Given the description of an element on the screen output the (x, y) to click on. 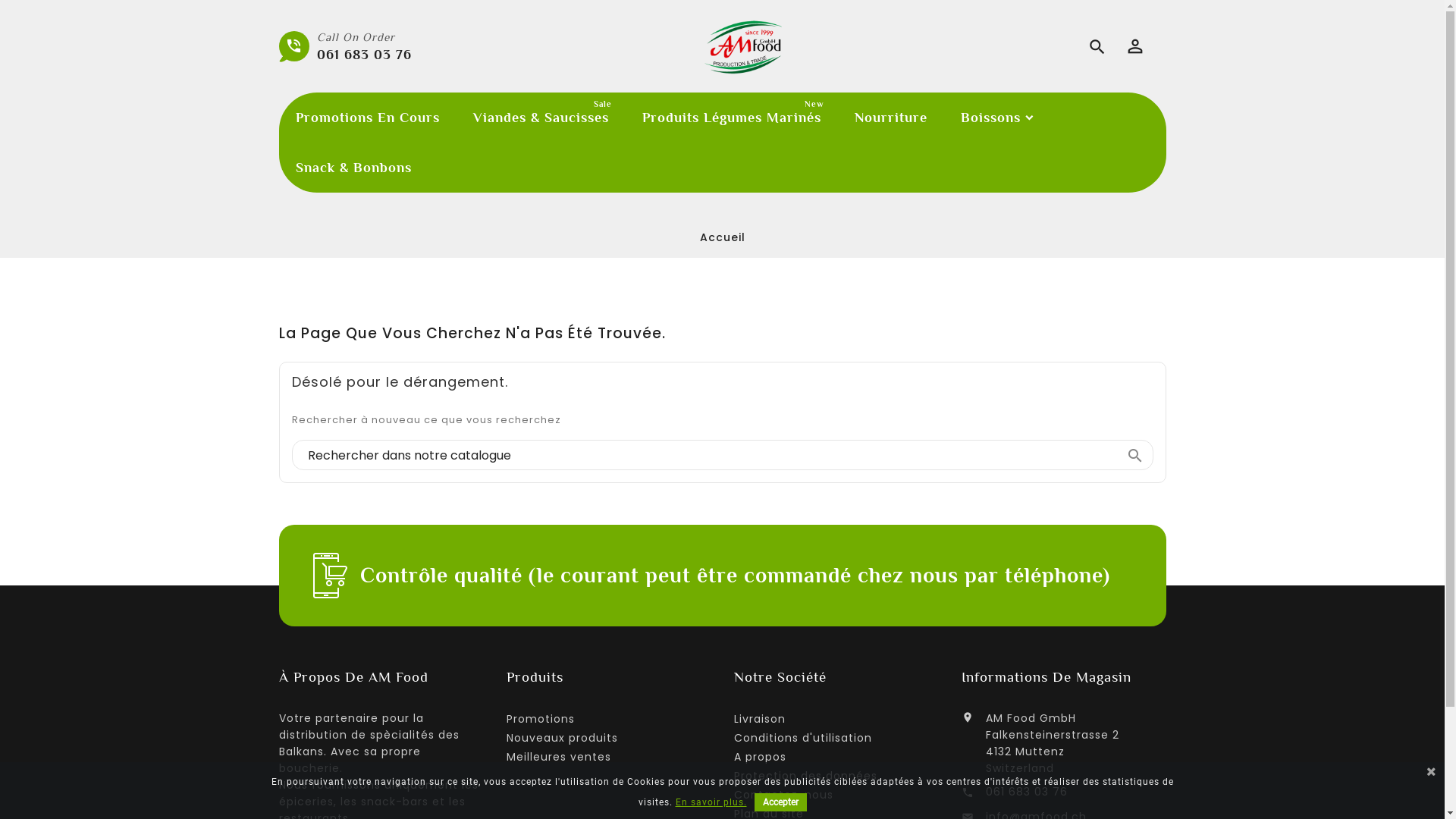
Boissons Element type: text (994, 117)
En savoir plus. Element type: text (710, 801)
Promotions Element type: text (540, 718)
Nourriture Element type: text (889, 117)
Livraison Element type: text (759, 718)
Conditions d'utilisation Element type: text (803, 737)
Meilleures ventes Element type: text (558, 756)
Contactez-nous Element type: text (783, 794)
Snack & Bonbons Element type: text (353, 167)
Nouveaux produits Element type: text (562, 737)
Accepter Element type: text (779, 802)
Viandes & Saucisses
Sale Element type: text (541, 117)
A propos Element type: text (760, 756)
Promotions En Cours Element type: text (367, 117)
